Given the description of an element on the screen output the (x, y) to click on. 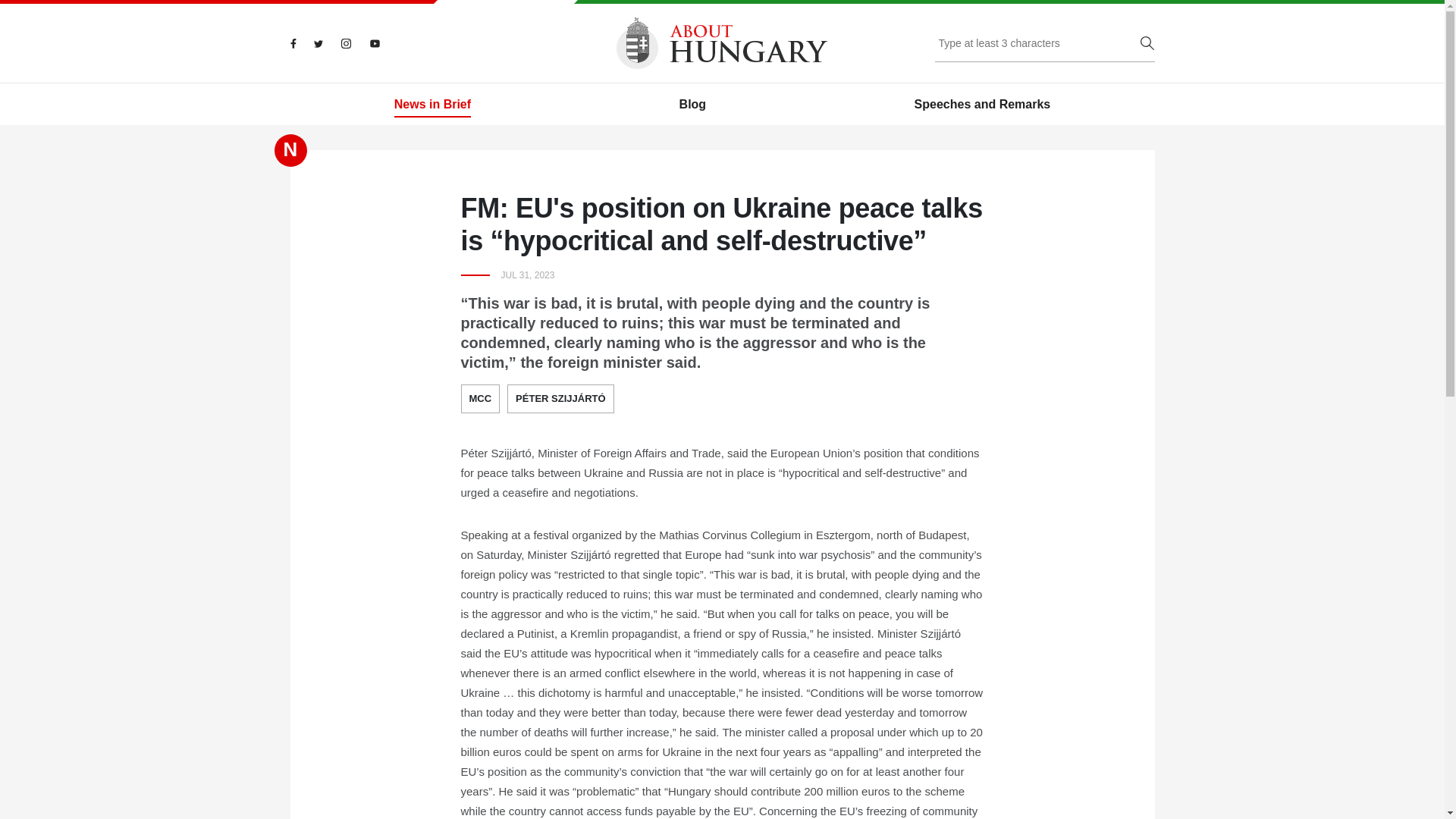
Blog (692, 104)
Speeches and Remarks (982, 104)
MCC (480, 398)
Speeches and Remarks (982, 104)
Blog (692, 104)
MCC (480, 398)
Home page (721, 42)
News in Brief (432, 104)
News in Brief (432, 104)
